Given the description of an element on the screen output the (x, y) to click on. 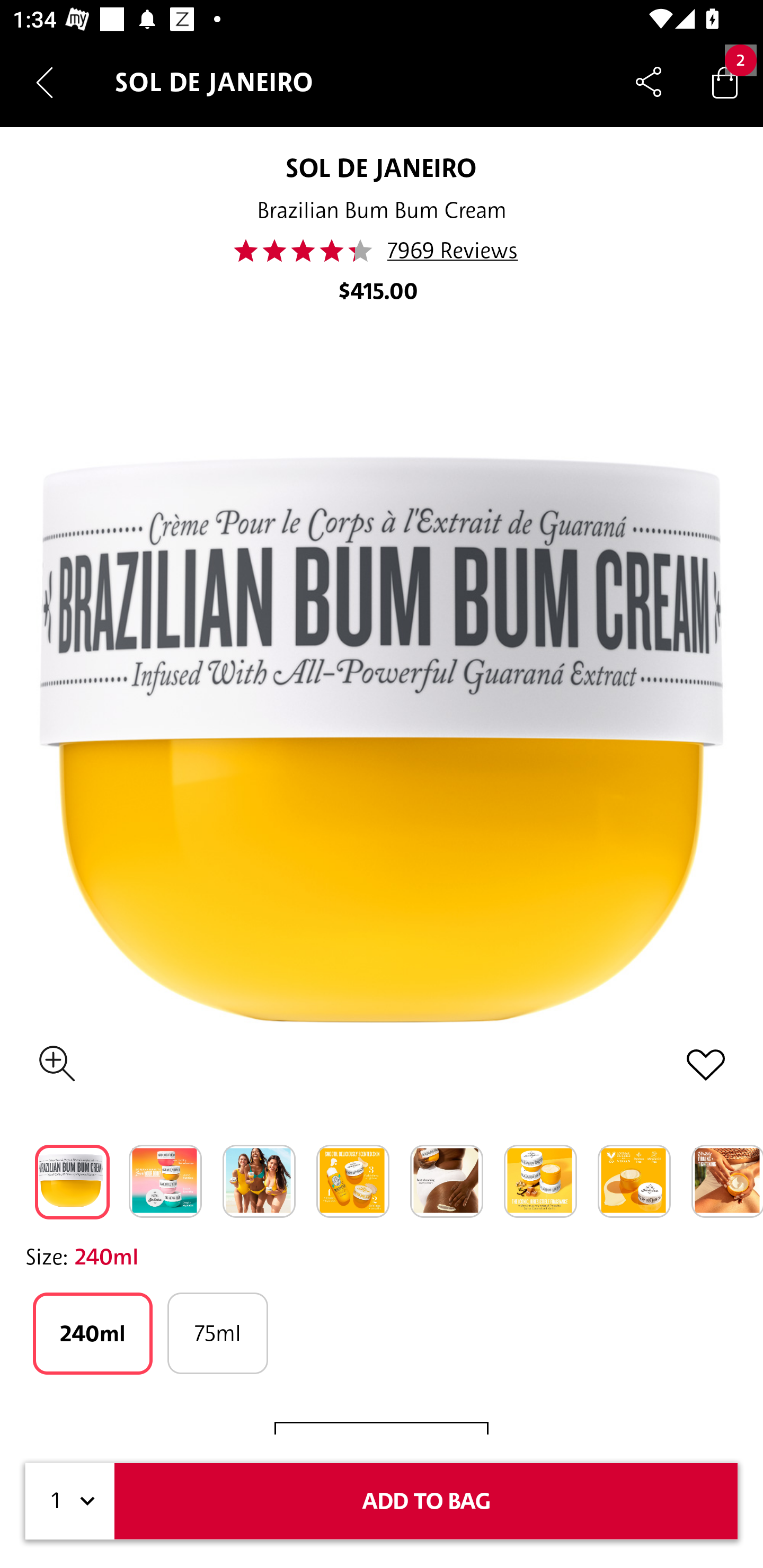
Navigate up (44, 82)
Share (648, 81)
Bag (724, 81)
SOL DE JANEIRO (380, 167)
43.0 7969 Reviews (381, 250)
240ml (92, 1333)
75ml (217, 1332)
1 (69, 1500)
ADD TO BAG (425, 1500)
